Given the description of an element on the screen output the (x, y) to click on. 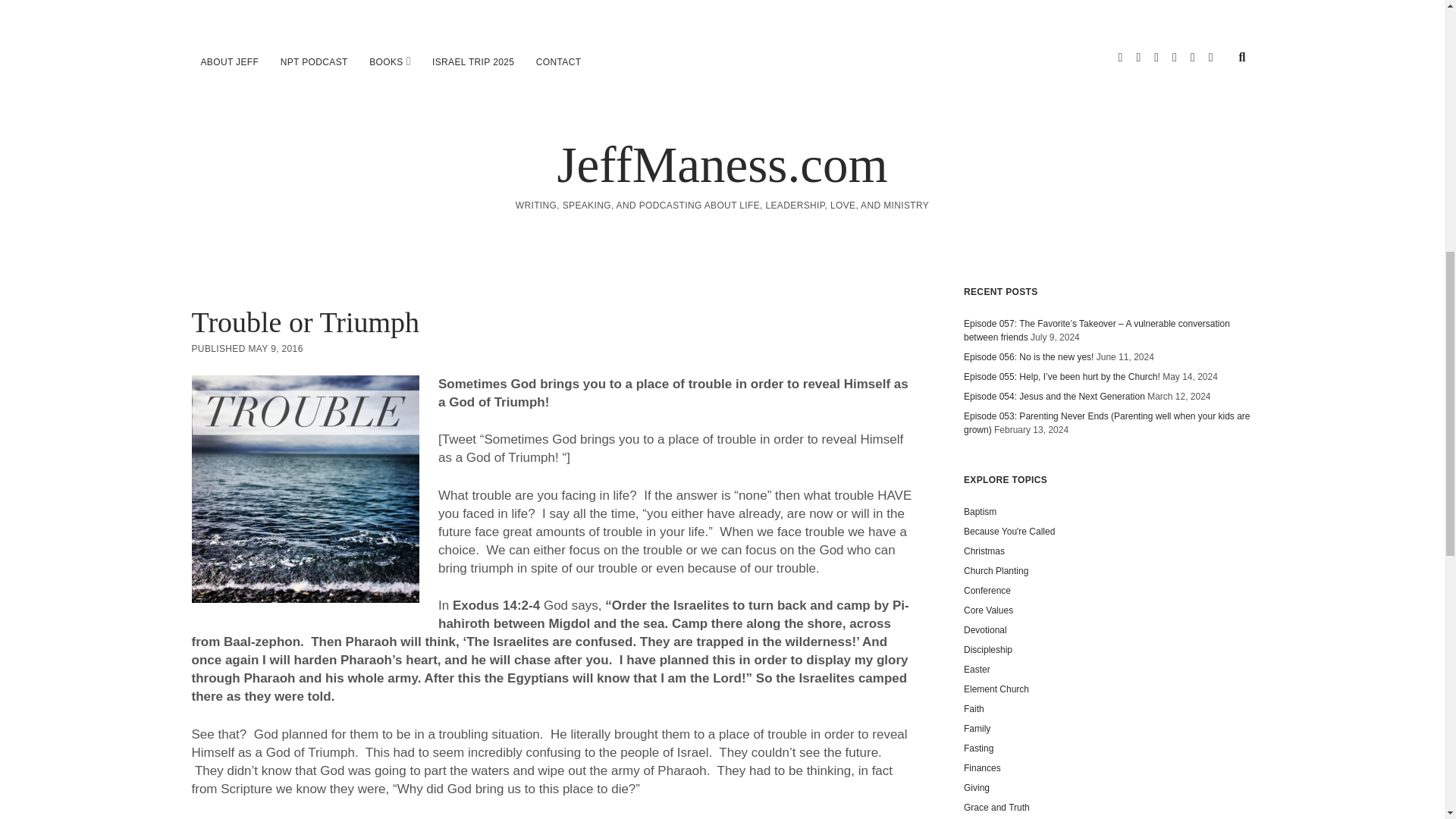
BOOKS (385, 62)
Church Planting (995, 570)
CONTACT (559, 62)
ISRAEL TRIP 2025 (472, 62)
Conference (986, 590)
NPT PODCAST (313, 62)
Core Values (988, 610)
Christmas (983, 551)
Because You're Called (1008, 531)
Baptism (979, 511)
Episode 054: Jesus and the Next Generation (1053, 396)
Episode 056: No is the new yes! (1028, 357)
JeffManess.com (721, 164)
Devotional (985, 629)
ABOUT JEFF (228, 62)
